Given the description of an element on the screen output the (x, y) to click on. 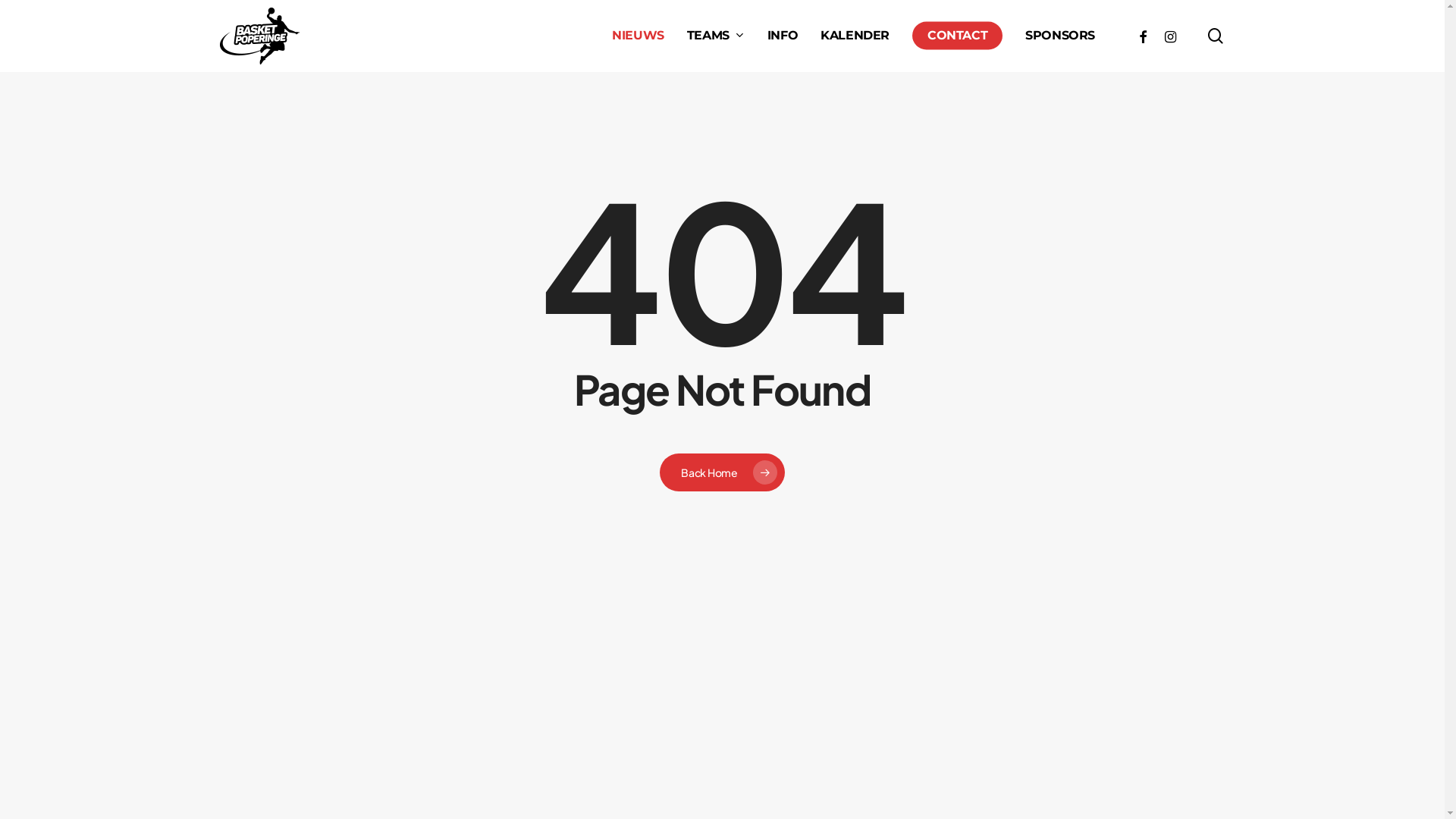
INFO Element type: text (782, 35)
KALENDER Element type: text (854, 35)
NIEUWS Element type: text (637, 35)
search Element type: text (1215, 35)
INSTAGRAM Element type: text (1169, 35)
FACEBOOK Element type: text (1142, 35)
TEAMS Element type: text (715, 35)
SPONSORS Element type: text (1059, 35)
Back Home Element type: text (721, 472)
CONTACT Element type: text (957, 35)
